Given the description of an element on the screen output the (x, y) to click on. 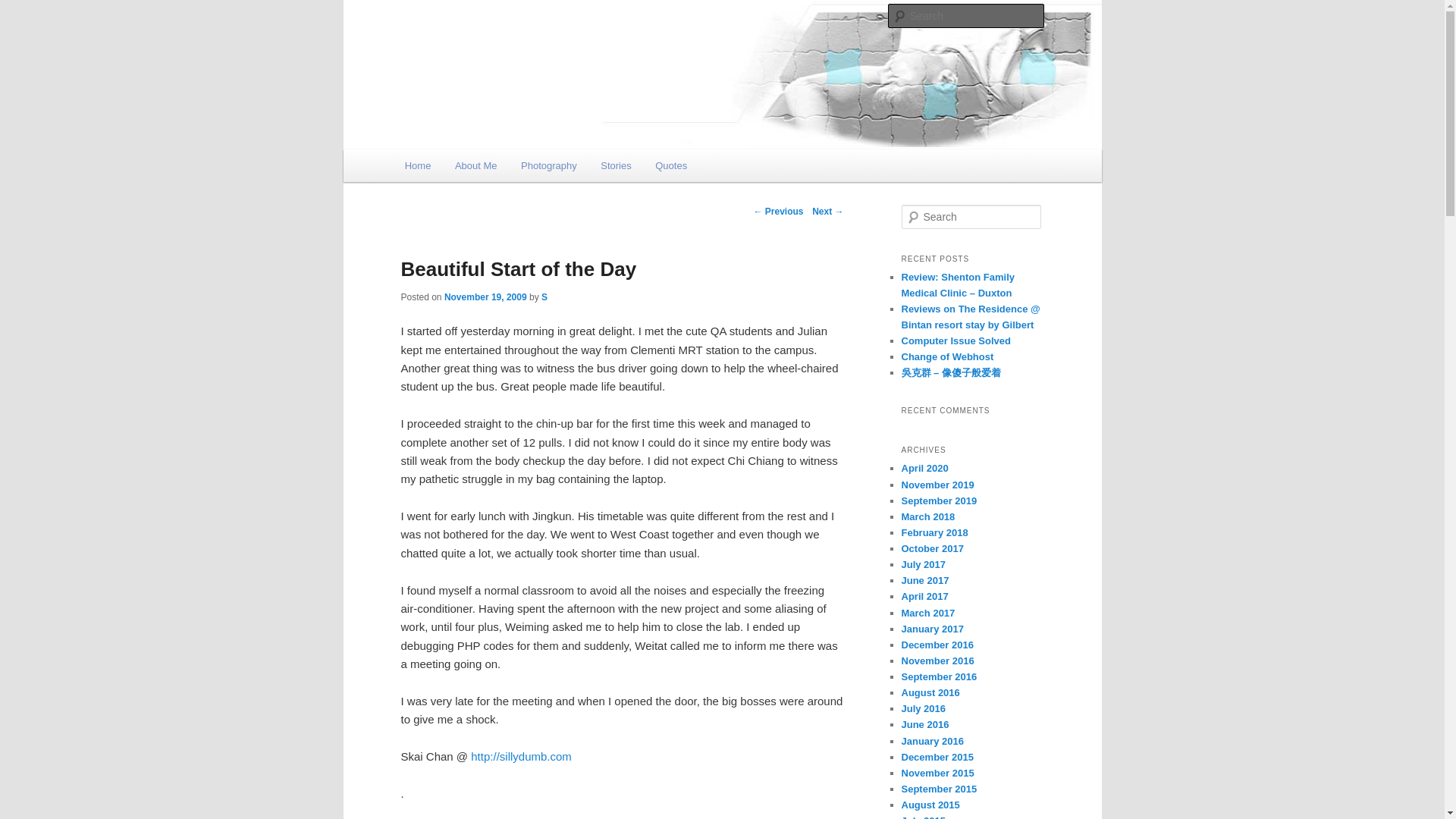
Quotes (670, 165)
Stories (616, 165)
About Me (475, 165)
Search (24, 8)
November 19, 2009 (485, 296)
Home (417, 165)
Dear Dreams (470, 12)
8:37 am (485, 296)
Photography (548, 165)
Skip to primary content (472, 168)
